Given the description of an element on the screen output the (x, y) to click on. 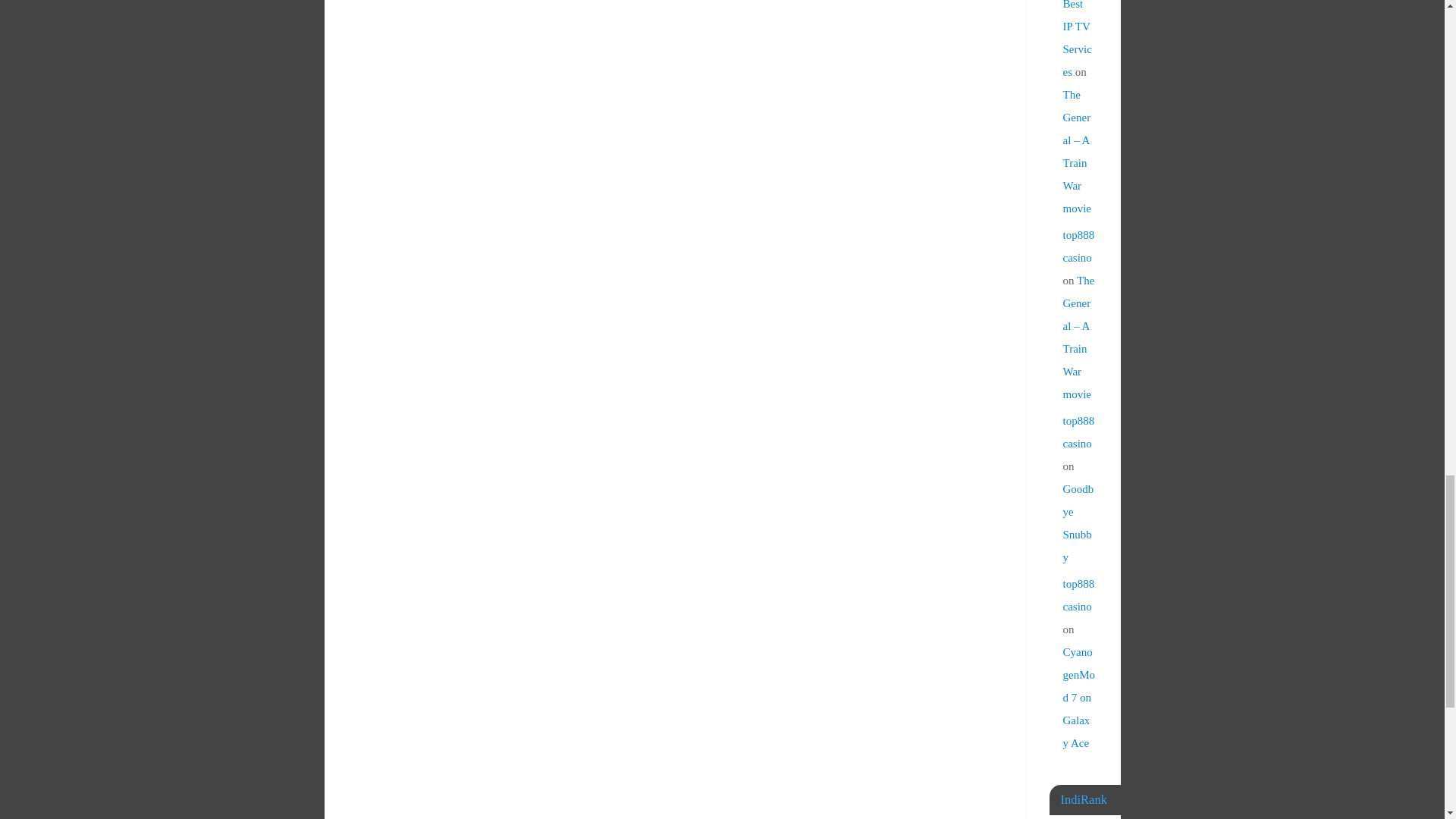
top888casino (1078, 246)
top888casino (1078, 431)
top888casino (1078, 595)
